Given the description of an element on the screen output the (x, y) to click on. 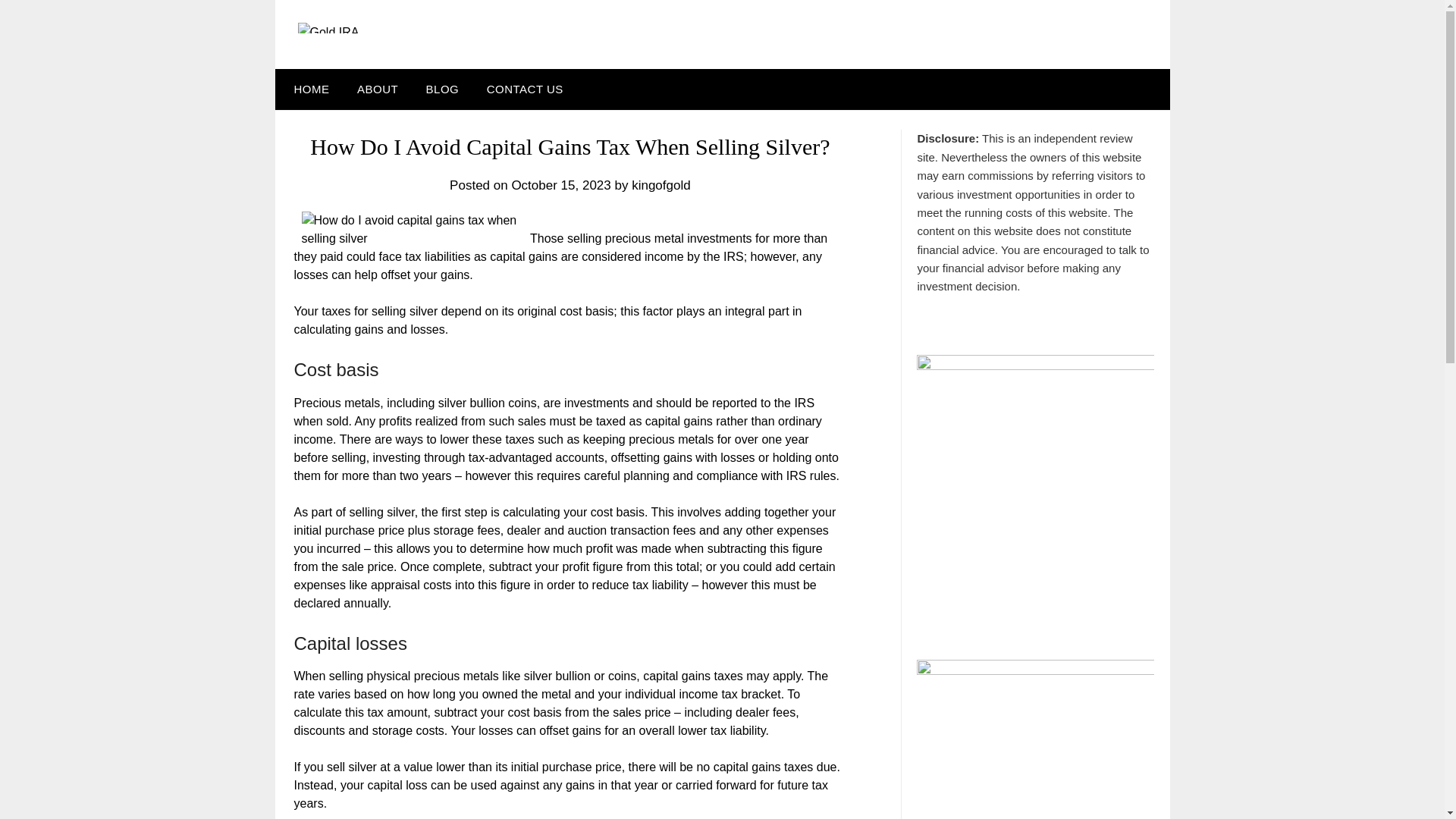
HOME (307, 88)
CONTACT US (524, 88)
ABOUT (377, 88)
kingofgold (660, 185)
BLOG (442, 88)
October 15, 2023 (560, 185)
